Given the description of an element on the screen output the (x, y) to click on. 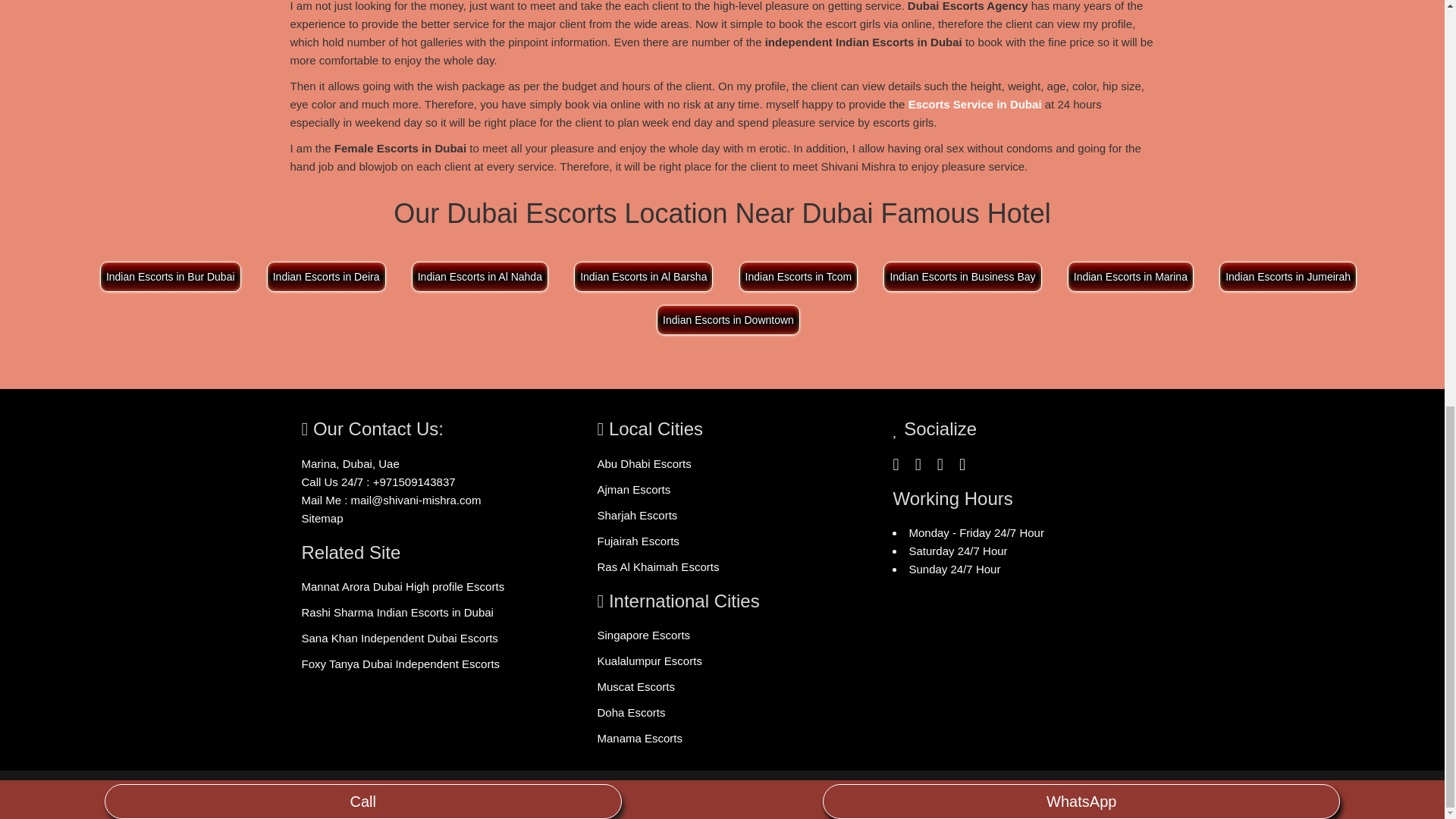
Mannat Arora Dubai High profile Escorts (403, 585)
Foxy Tanya Dubai Independent Escorts (400, 663)
Sana Khan Independent Dubai Escorts (399, 637)
Indian Escorts in Downtown (722, 318)
Abu Dhabi Escorts (643, 463)
Fujairah Escorts (637, 540)
Indian Escorts in Al Barsha (638, 276)
Indian Escorts in Jumeirah (1281, 276)
Indian Escorts in Al Nahda (475, 276)
Indian Escorts in Deira (325, 276)
Sharjah Escorts (636, 514)
Indian Escorts in Marina (1125, 276)
Indian Escorts in Jumeirah (1288, 276)
Indian Escorts in Downtown (727, 319)
Indian Escorts in Al Nahda (480, 276)
